Given the description of an element on the screen output the (x, y) to click on. 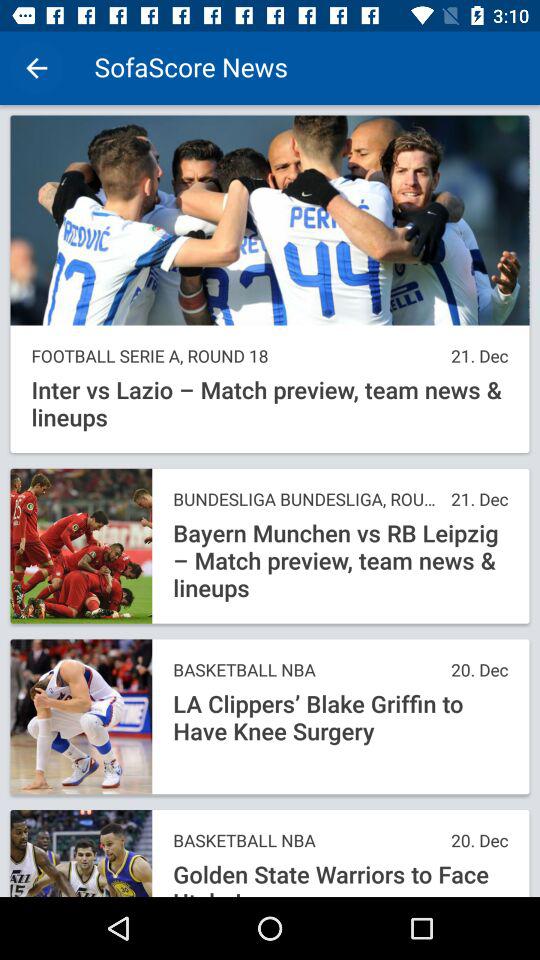
jump until the bayern munchen vs icon (340, 561)
